Given the description of an element on the screen output the (x, y) to click on. 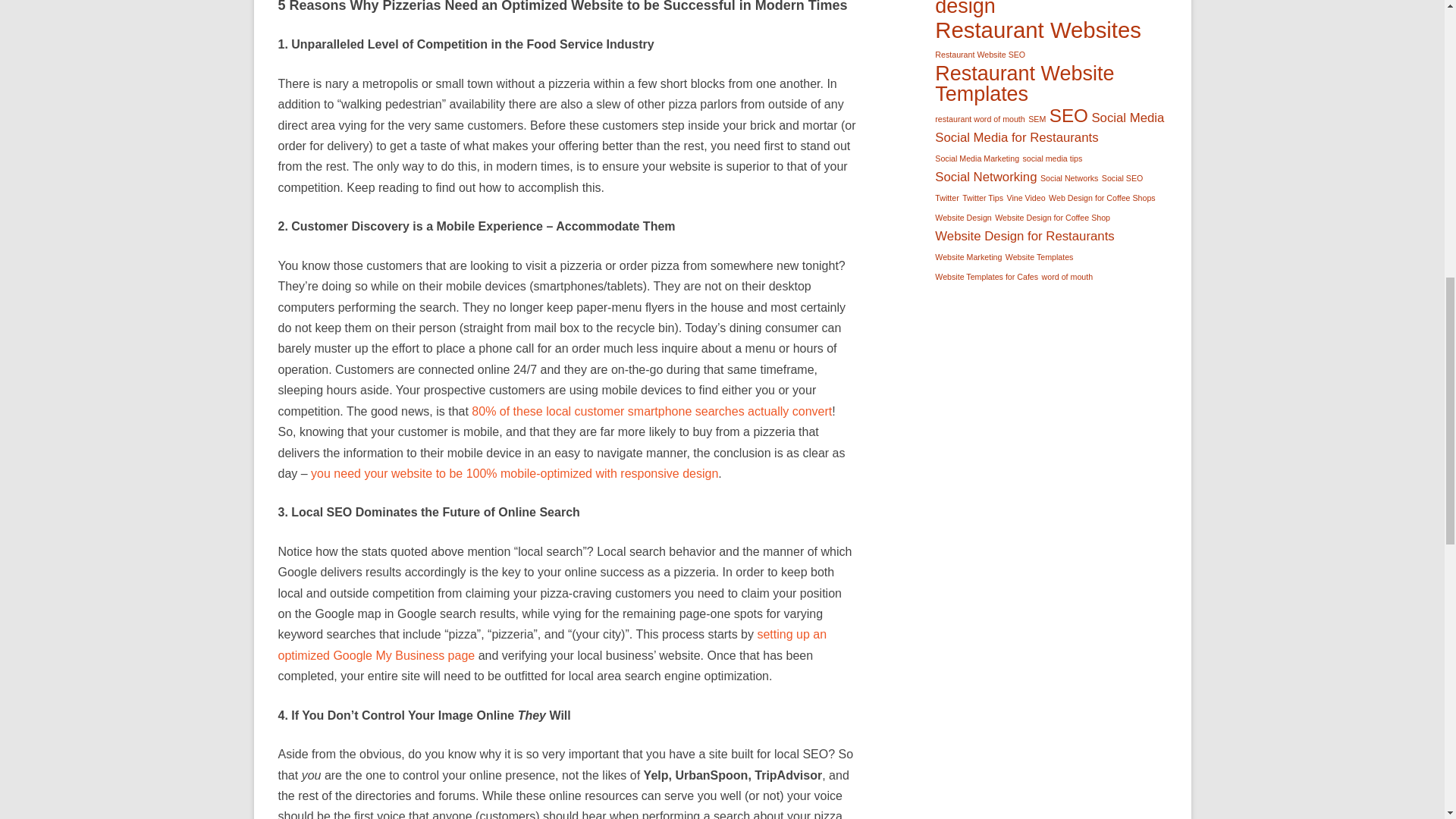
setting up an optimized Google My Business page (552, 644)
